Given the description of an element on the screen output the (x, y) to click on. 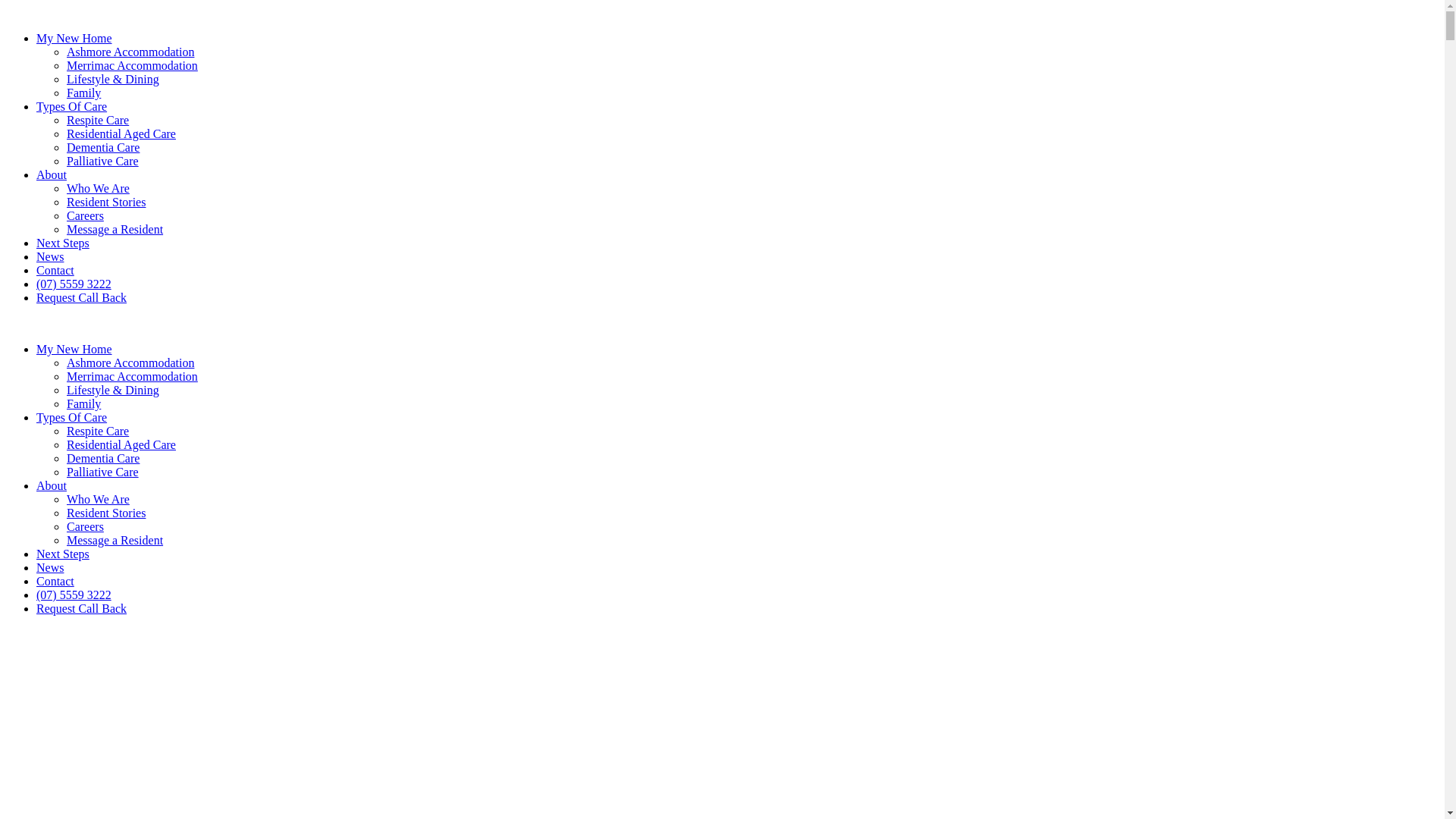
(07) 5559 3222 Element type: text (73, 283)
Lifestyle & Dining Element type: text (112, 389)
Careers Element type: text (84, 215)
Resident Stories Element type: text (105, 512)
Respite Care Element type: text (97, 430)
Next Steps Element type: text (62, 553)
Merrimac Accommodation Element type: text (131, 376)
Ashmore Accommodation Element type: text (130, 51)
Message a Resident Element type: text (114, 539)
News Element type: text (49, 256)
Resident Stories Element type: text (105, 201)
Dementia Care Element type: text (102, 147)
Who We Are Element type: text (97, 498)
Careers Element type: text (84, 526)
Family Element type: text (83, 403)
Contact Element type: text (55, 580)
Respite Care Element type: text (97, 119)
Types Of Care Element type: text (71, 106)
About Element type: text (51, 485)
Residential Aged Care Element type: text (120, 133)
Next Steps Element type: text (62, 242)
(07) 5559 3222 Element type: text (73, 594)
My New Home Element type: text (74, 348)
Request Call Back Element type: text (81, 297)
Merrimac Accommodation Element type: text (131, 65)
Message a Resident Element type: text (114, 228)
Request Call Back Element type: text (81, 608)
Contact Element type: text (55, 269)
Palliative Care Element type: text (102, 160)
My New Home Element type: text (74, 37)
Dementia Care Element type: text (102, 457)
Who We Are Element type: text (97, 188)
Family Element type: text (83, 92)
Ashmore Accommodation Element type: text (130, 362)
Palliative Care Element type: text (102, 471)
News Element type: text (49, 567)
Types Of Care Element type: text (71, 417)
About Element type: text (51, 174)
Residential Aged Care Element type: text (120, 444)
Lifestyle & Dining Element type: text (112, 78)
